Given the description of an element on the screen output the (x, y) to click on. 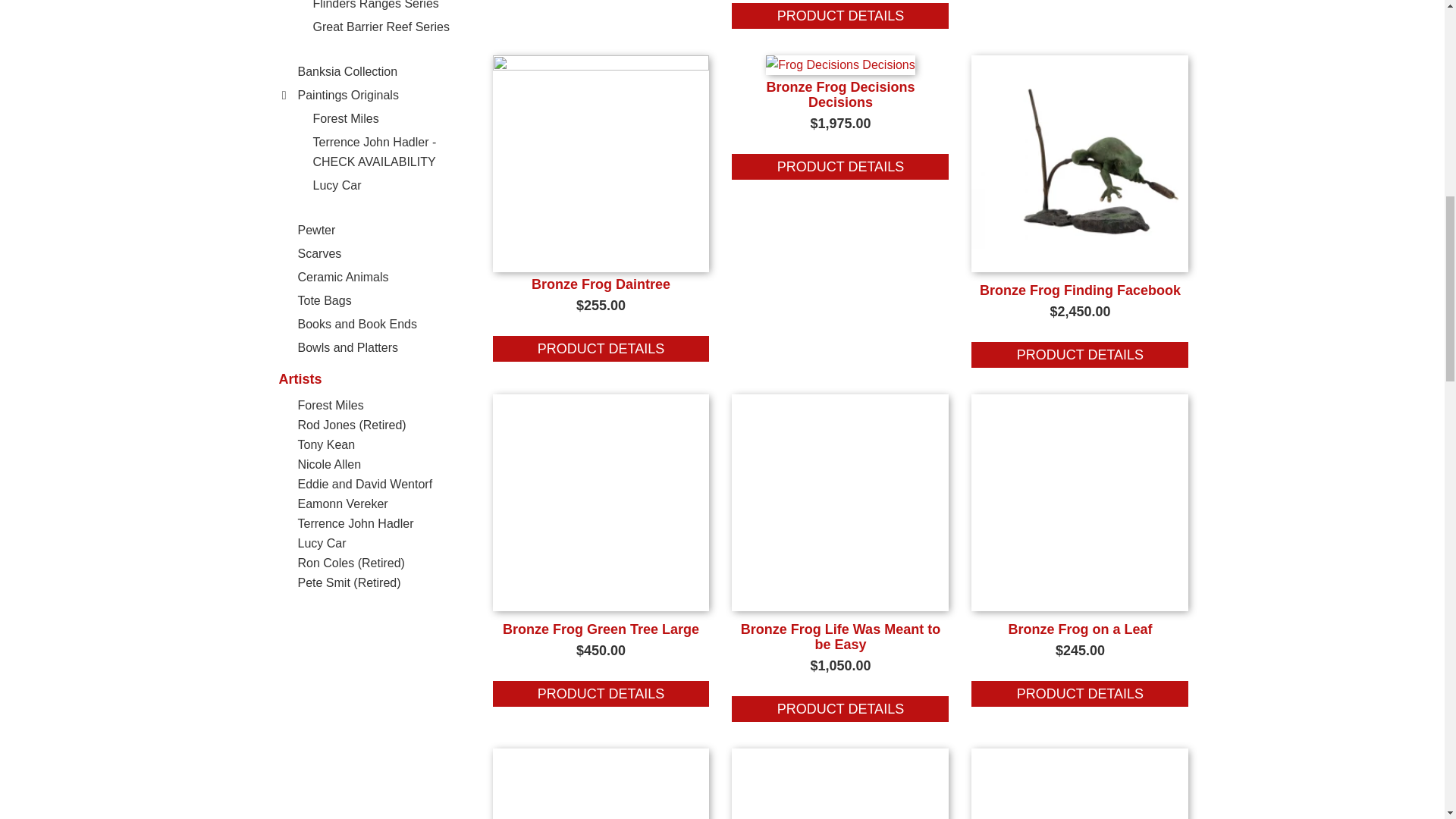
Lucy Car (337, 185)
Forest Miles (345, 118)
Banksia Collection (347, 71)
Bronze Echidna (840, 15)
Bronze Frog Decisions Decisions (839, 94)
Paintings Originals (347, 94)
Bronze Frog Daintree (600, 283)
Pewter (315, 229)
Bronze Frog Decisions Decisions (840, 64)
Flinders Ranges Series (375, 4)
Bronze Frog Decisions Decisions (840, 166)
Bronze Frog Daintree (601, 348)
Terrence John Hadler - CHECK AVAILABILITY (374, 151)
Bronze Frog Daintree (601, 65)
Great Barrier Reef Series (381, 26)
